Given the description of an element on the screen output the (x, y) to click on. 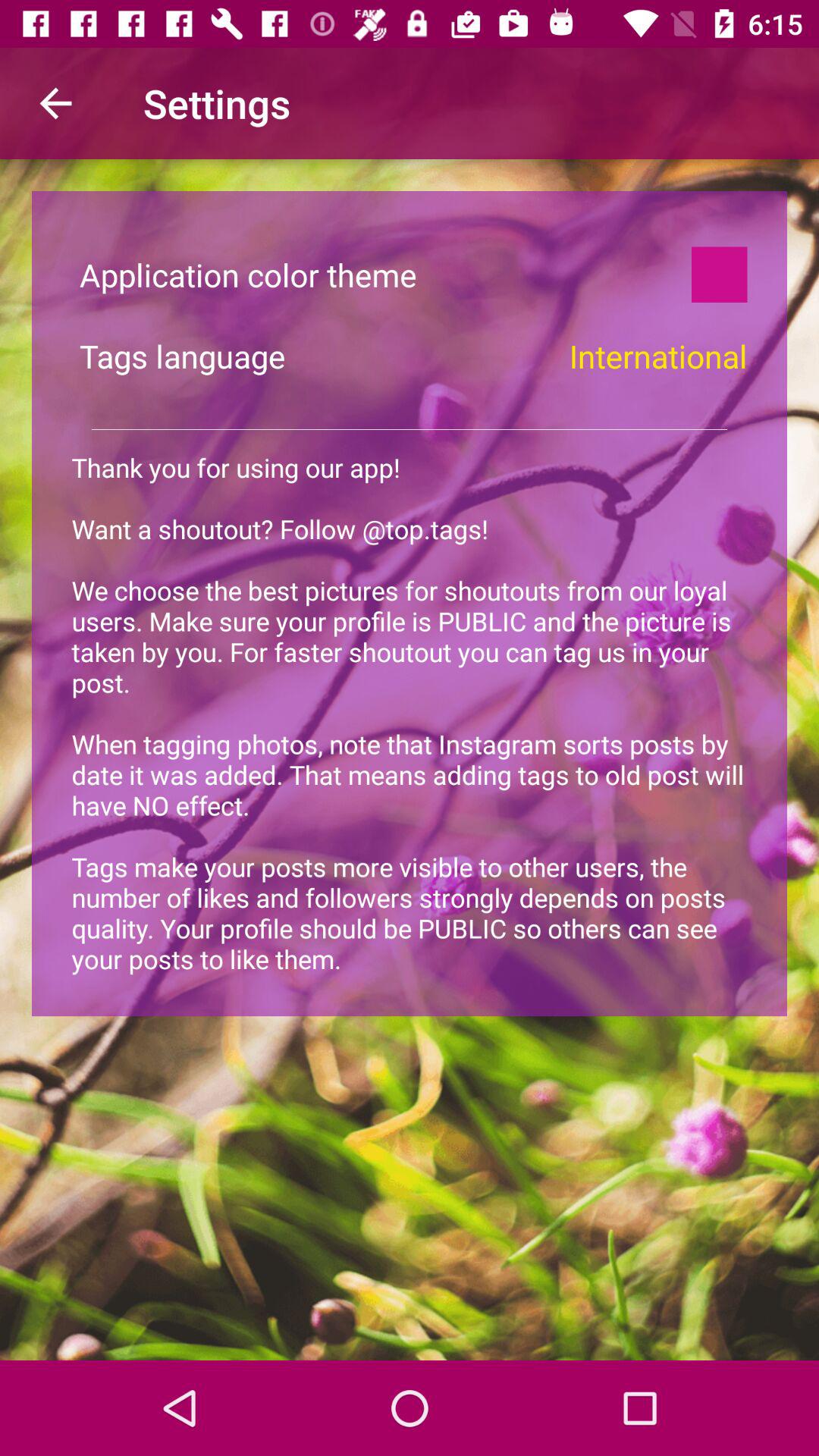
select the item above the application color theme icon (55, 103)
